Given the description of an element on the screen output the (x, y) to click on. 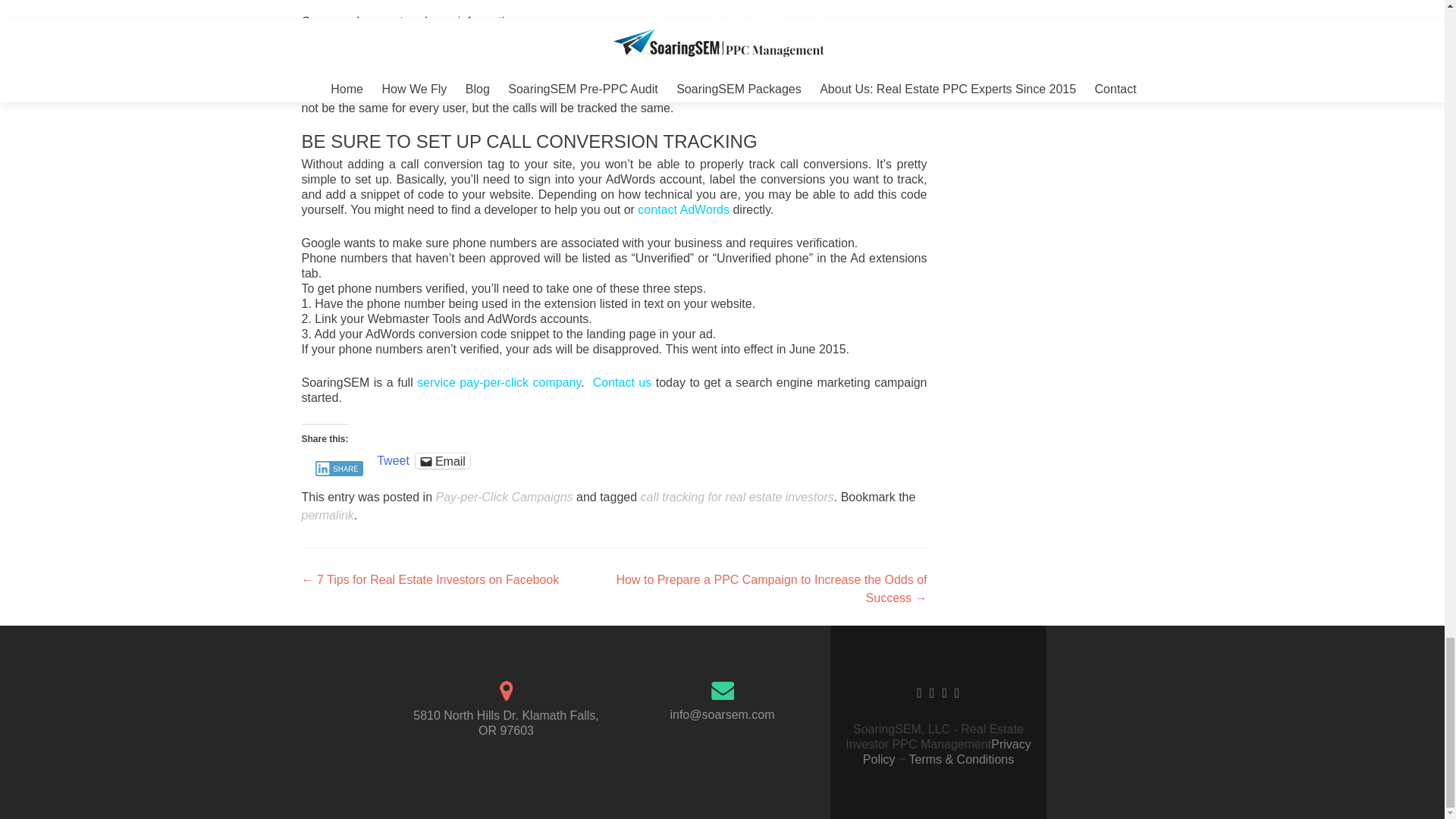
Tweet (393, 459)
Contact us (622, 382)
Click to email a link to a friend (442, 460)
call tracking for real estate investors (737, 496)
Email (442, 460)
SHARE (339, 468)
contact AdWords (683, 209)
Pay-per-Click Campaigns (503, 496)
permalink (327, 514)
service pay-per-click company (498, 382)
